Given the description of an element on the screen output the (x, y) to click on. 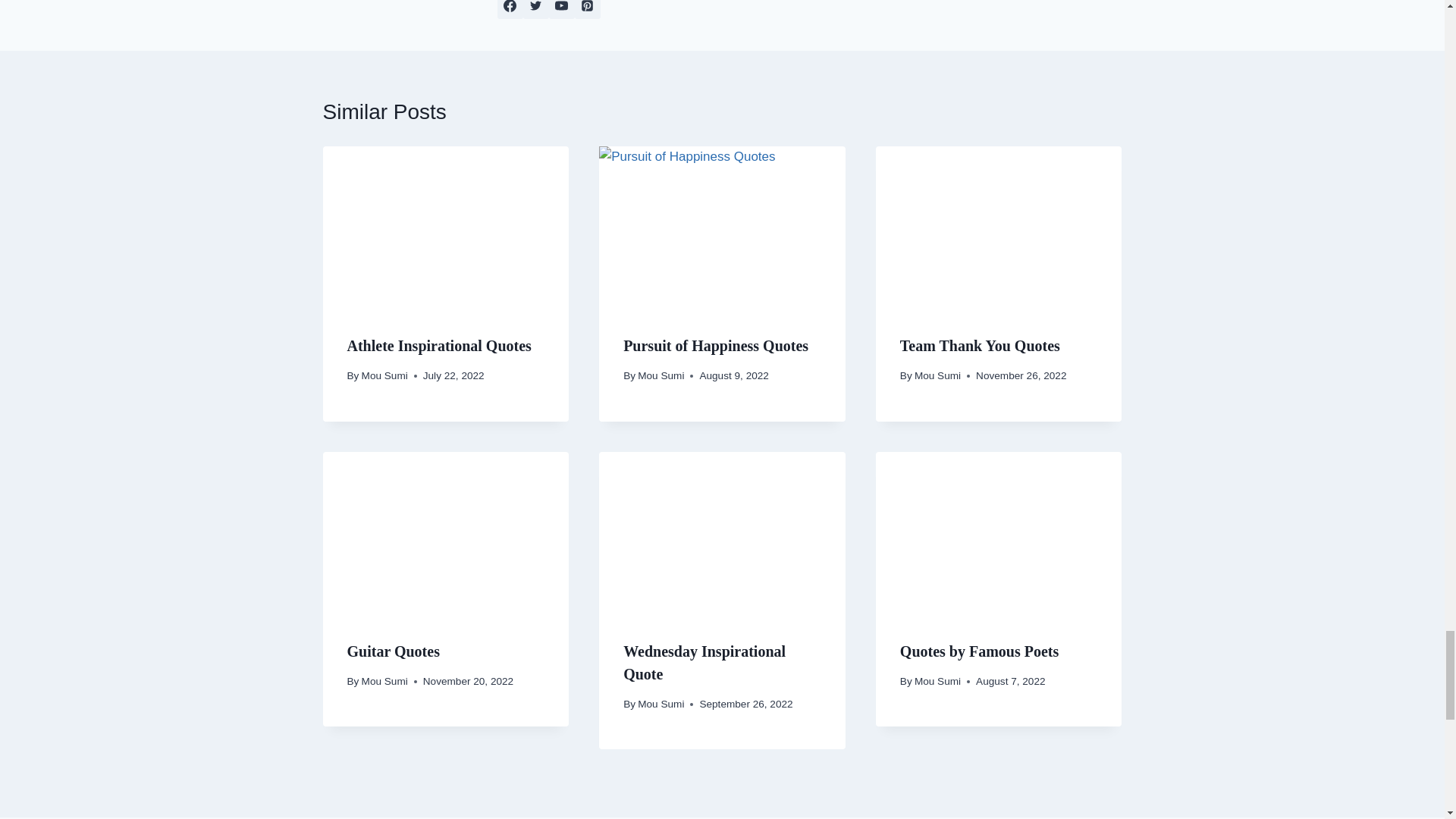
Follow Mou Sumi on Facebook (509, 9)
Athlete Inspirational Quotes (439, 345)
Follow Mou Sumi on Twitter (535, 9)
